Given the description of an element on the screen output the (x, y) to click on. 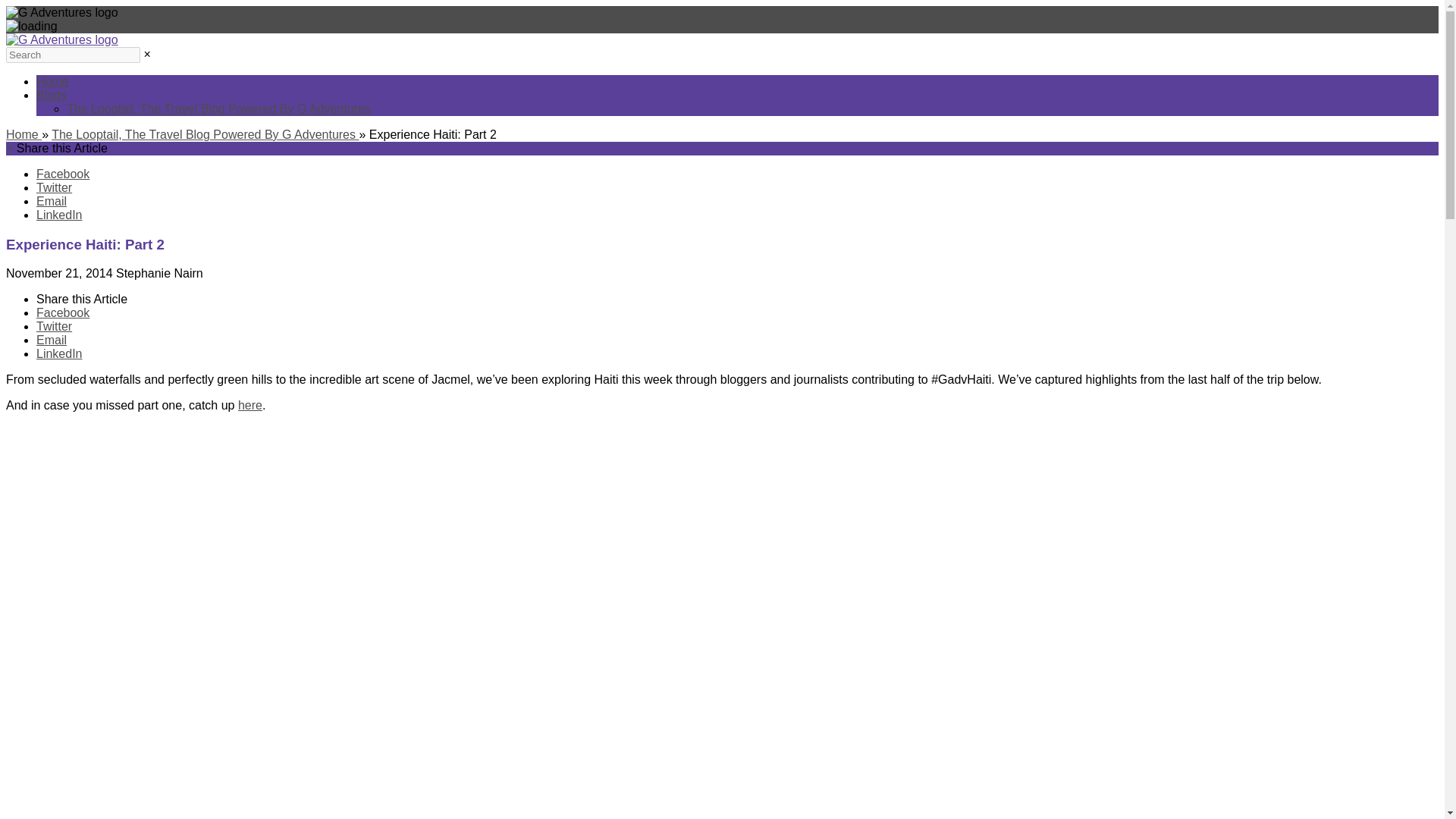
Home (52, 81)
The Looptail, The Travel Blog Powered By G Adventures (204, 133)
The Looptail, The Travel Blog Powered By G Adventures (218, 108)
Twitter (53, 187)
Facebook (62, 173)
Twitter (53, 326)
LinkedIn (59, 353)
G Adventures (61, 39)
Facebook (62, 312)
Email (51, 201)
Home (23, 133)
LinkedIn (59, 214)
Blogs (51, 94)
Email (51, 339)
here (250, 404)
